Given the description of an element on the screen output the (x, y) to click on. 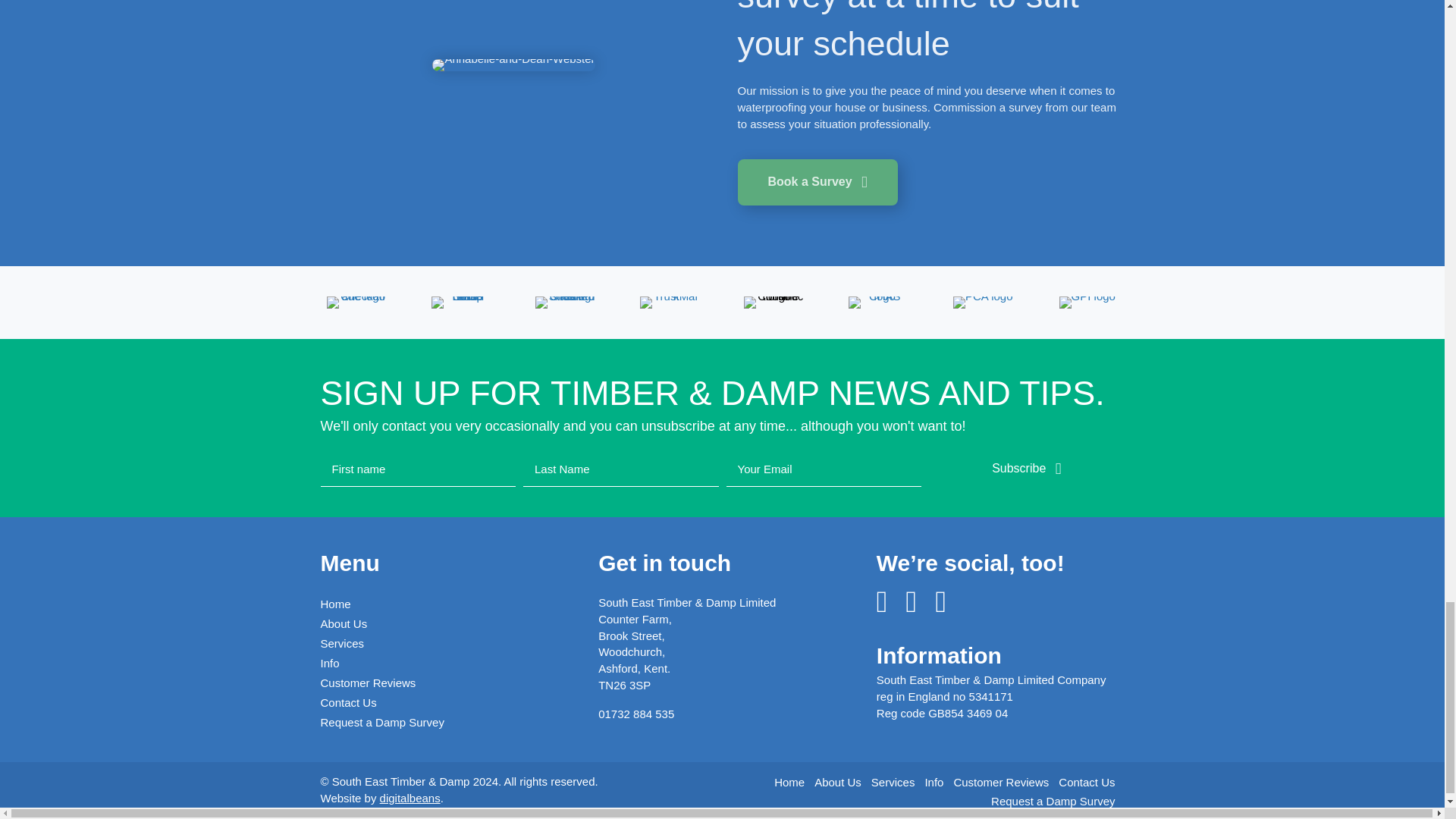
Checkatrade logo (356, 302)
Trading Standards Checked Kent (565, 302)
Which Trusted Trader logo (461, 300)
Annabelle-and-Dean-Webster (513, 64)
